Given the description of an element on the screen output the (x, y) to click on. 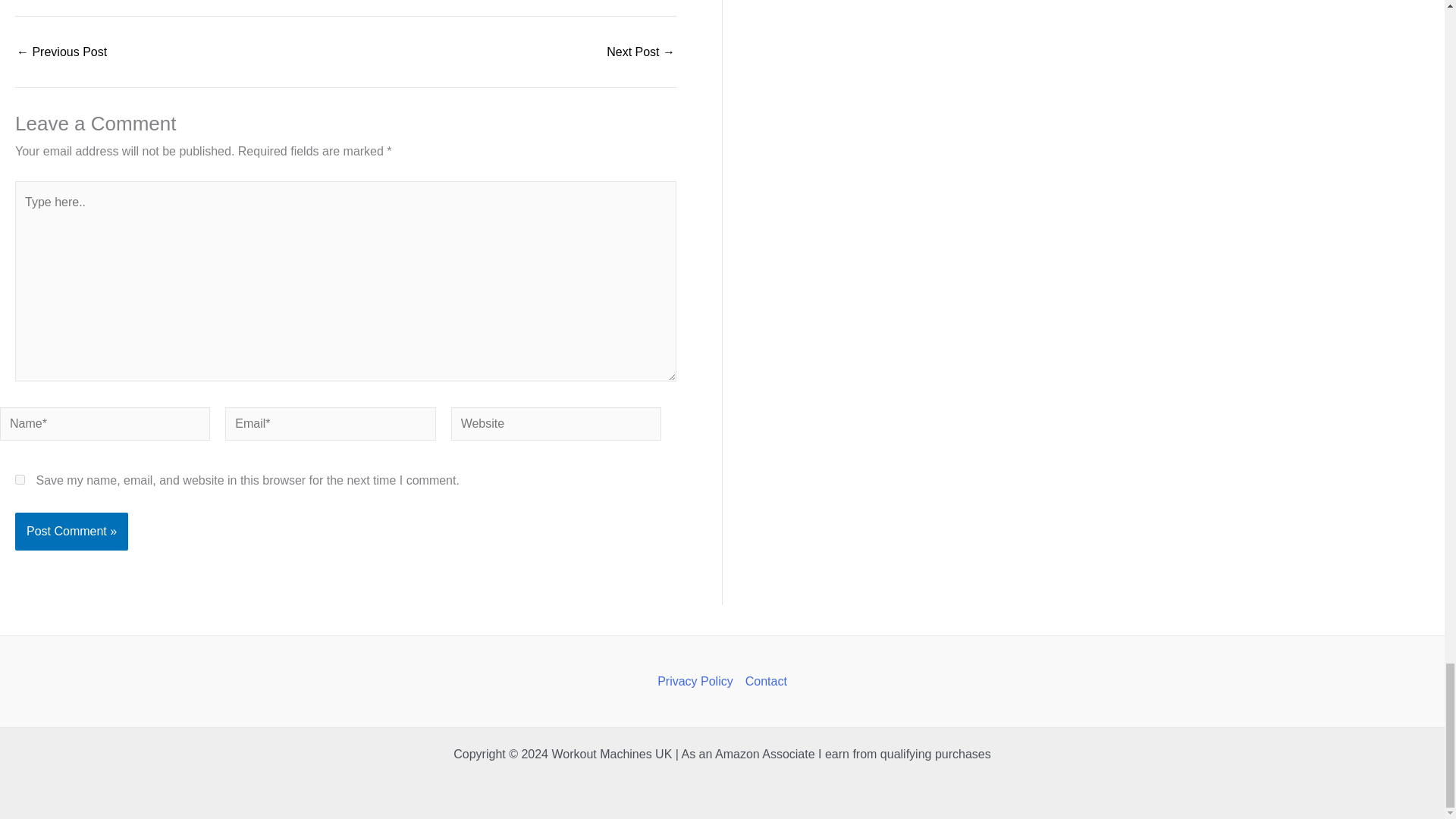
Treadmill Walking vs. Outdoor Walking: Pros and Cons (61, 51)
yes (19, 479)
Privacy Policy (698, 681)
Contact (763, 681)
